Given the description of an element on the screen output the (x, y) to click on. 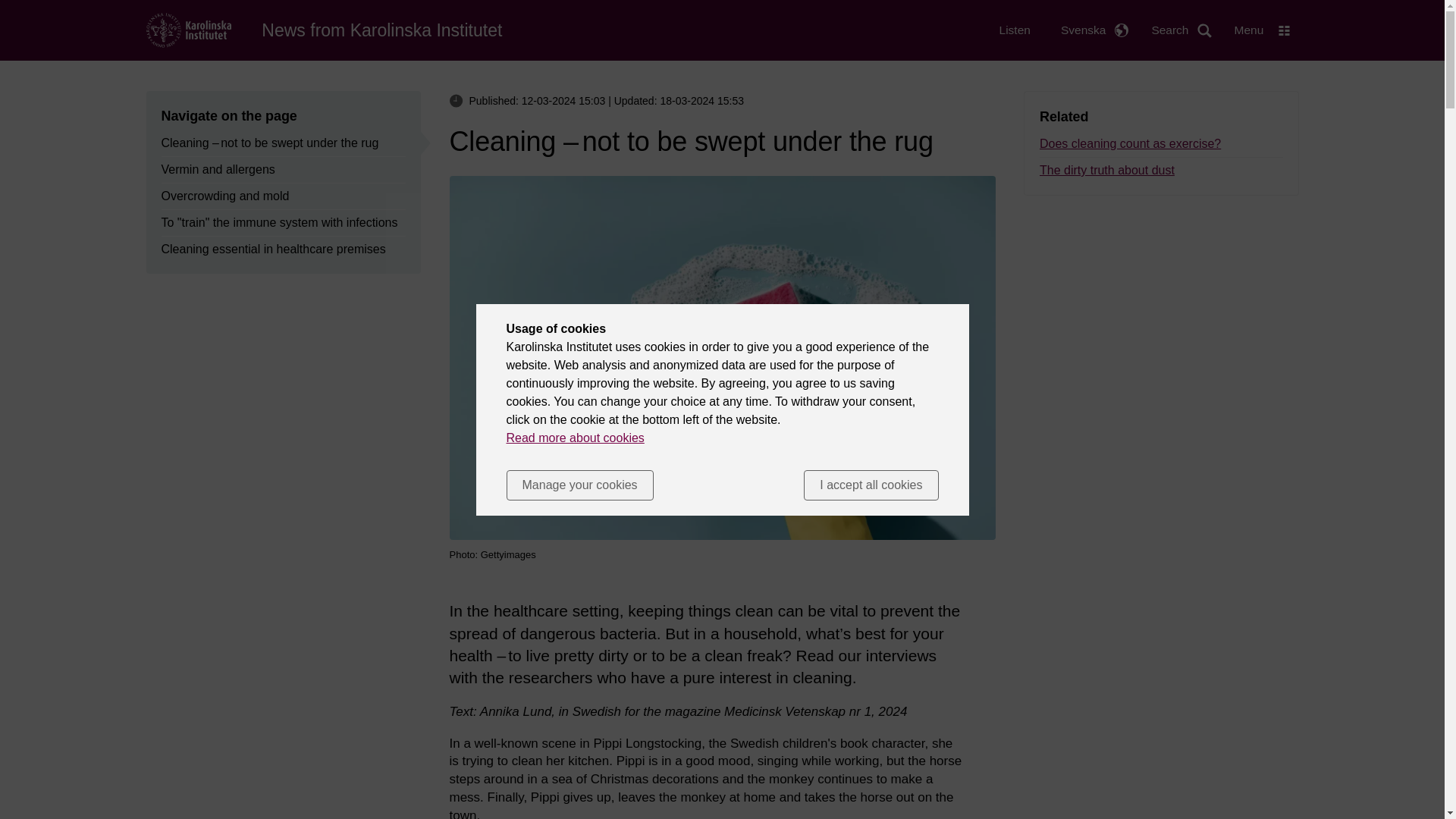
Vermin and allergens (217, 169)
News from Karolinska Institutet (382, 30)
Overcrowding and mold (224, 196)
To "train" the immune system with infections (278, 222)
Listen (1014, 30)
Cleaning essential in healthcare premises (272, 249)
Home (382, 30)
Home (188, 29)
